Given the description of an element on the screen output the (x, y) to click on. 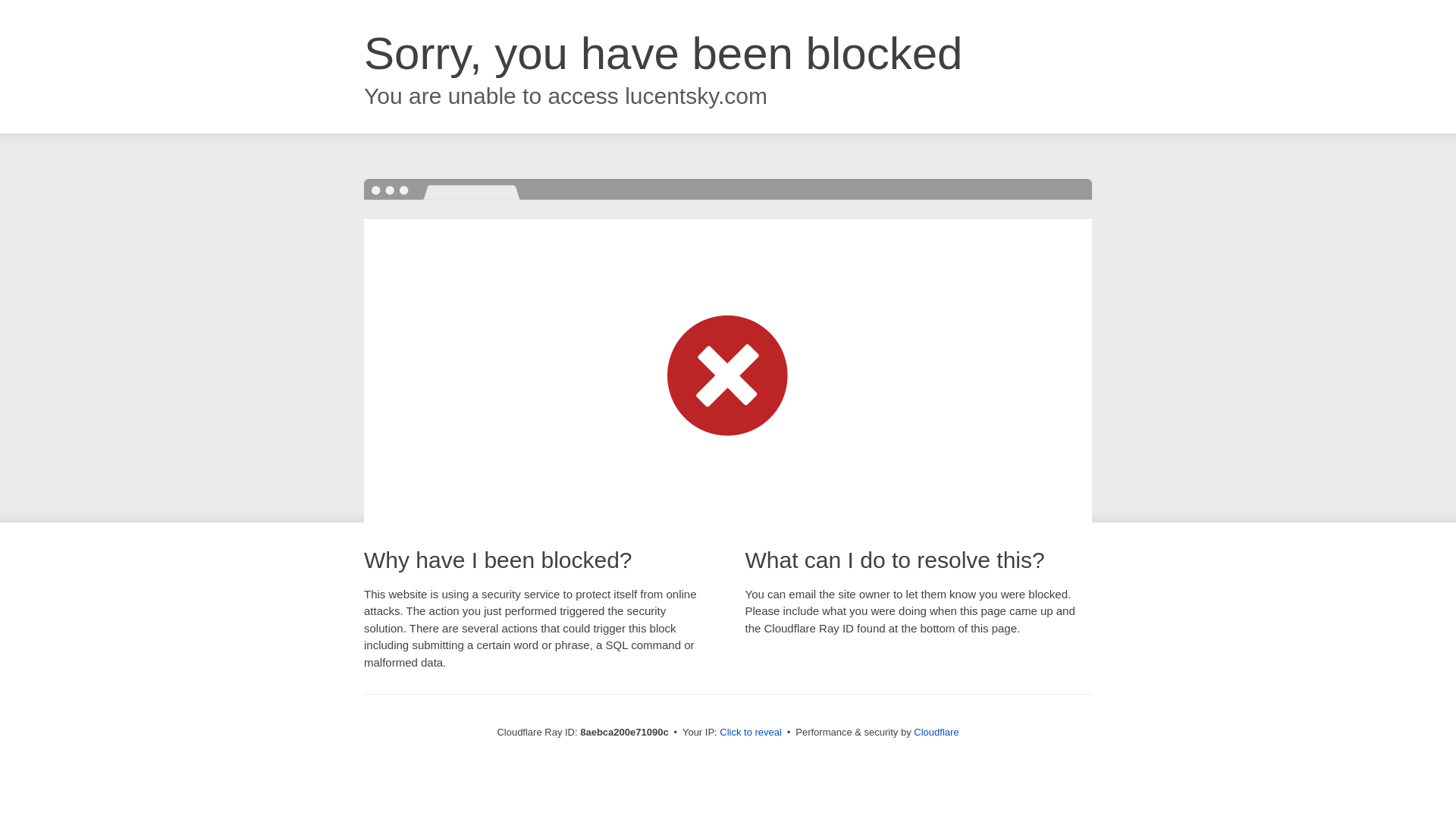
Cloudflare (936, 731)
Click to reveal (750, 732)
